Given the description of an element on the screen output the (x, y) to click on. 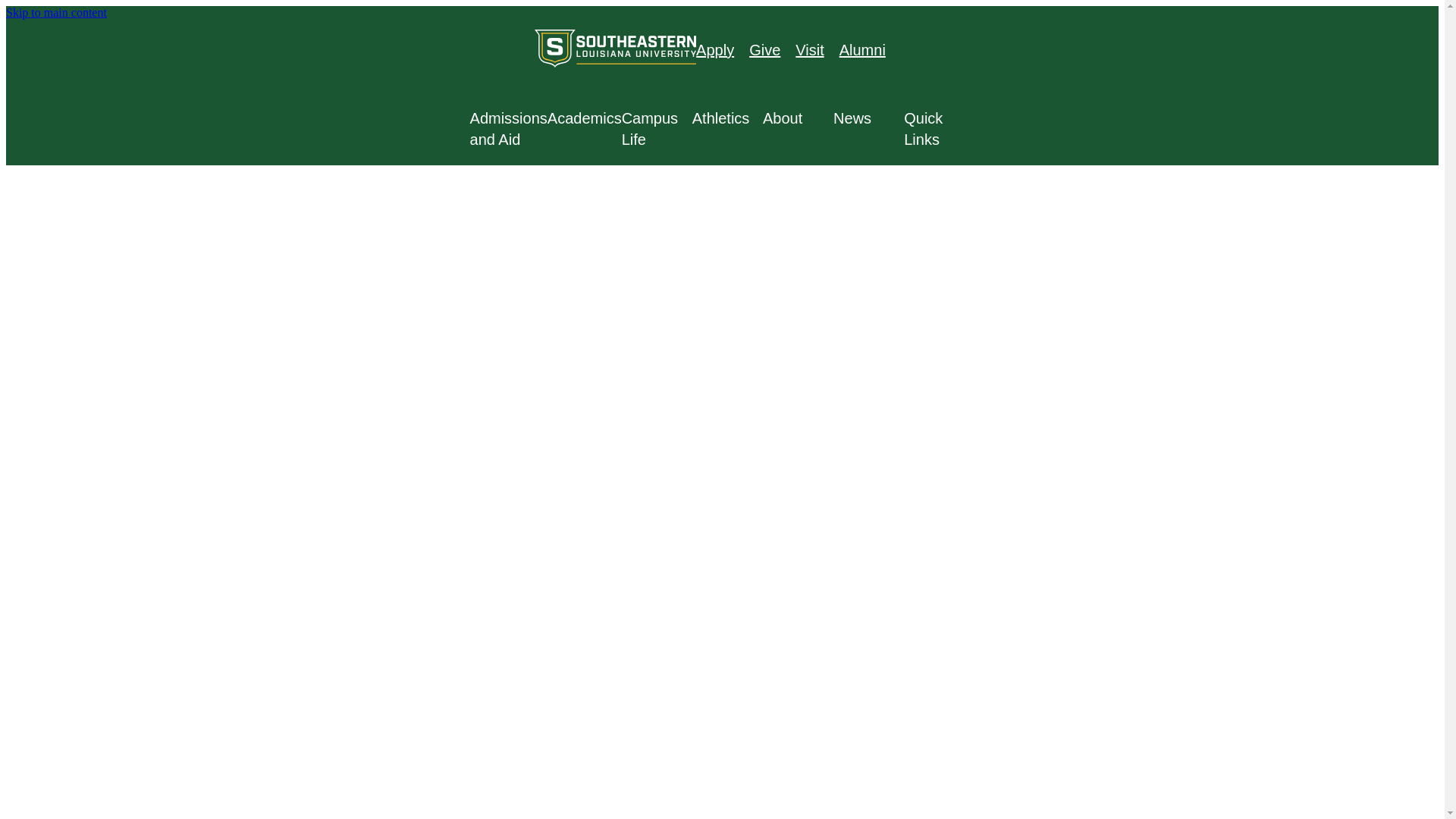
Academics (584, 117)
Give (764, 49)
Apply (714, 49)
Campus Life (657, 128)
Alumni (862, 49)
Visit (809, 49)
Admissions and Aid (508, 128)
